Given the description of an element on the screen output the (x, y) to click on. 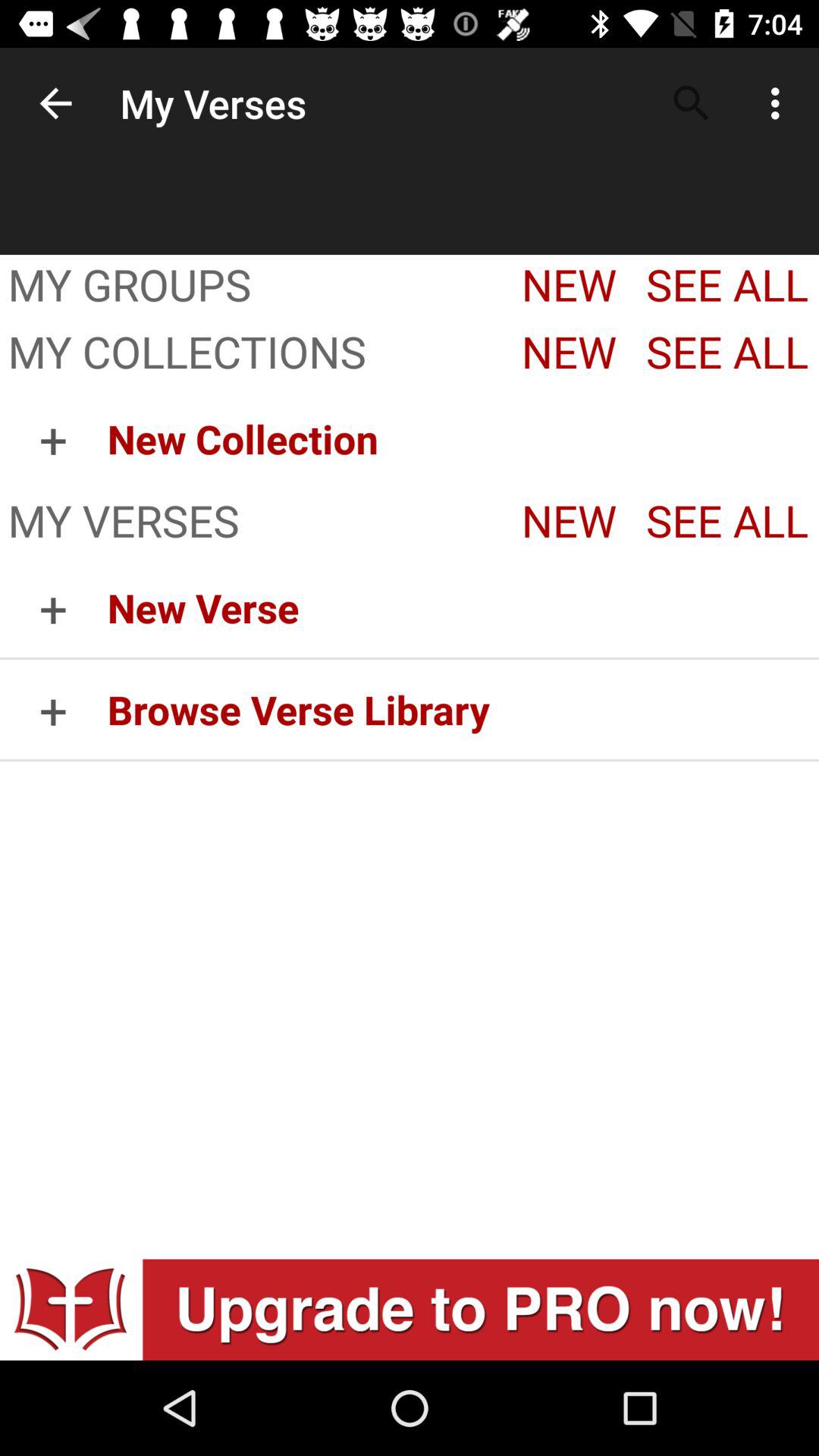
launch the item to the left of new verse icon (53, 709)
